Given the description of an element on the screen output the (x, y) to click on. 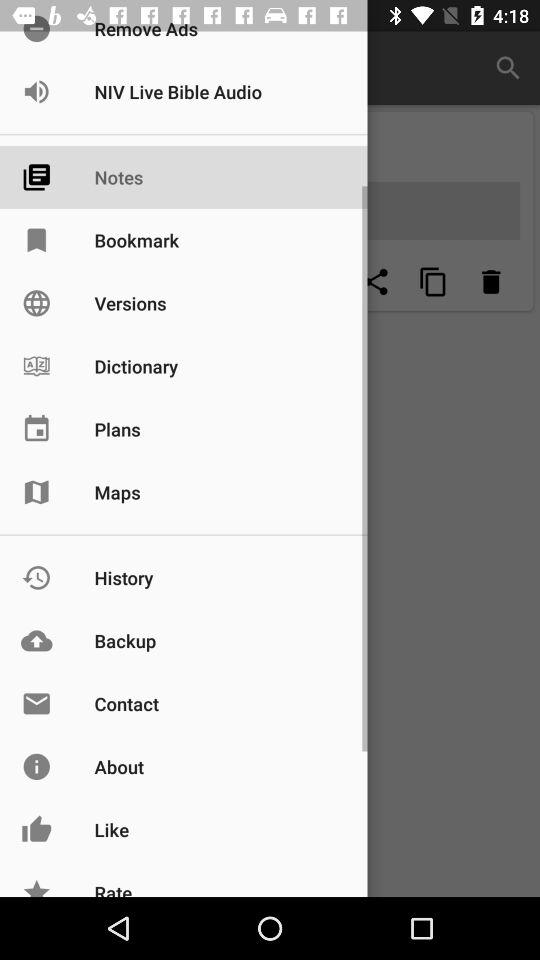
copy to clipboard (433, 281)
